Given the description of an element on the screen output the (x, y) to click on. 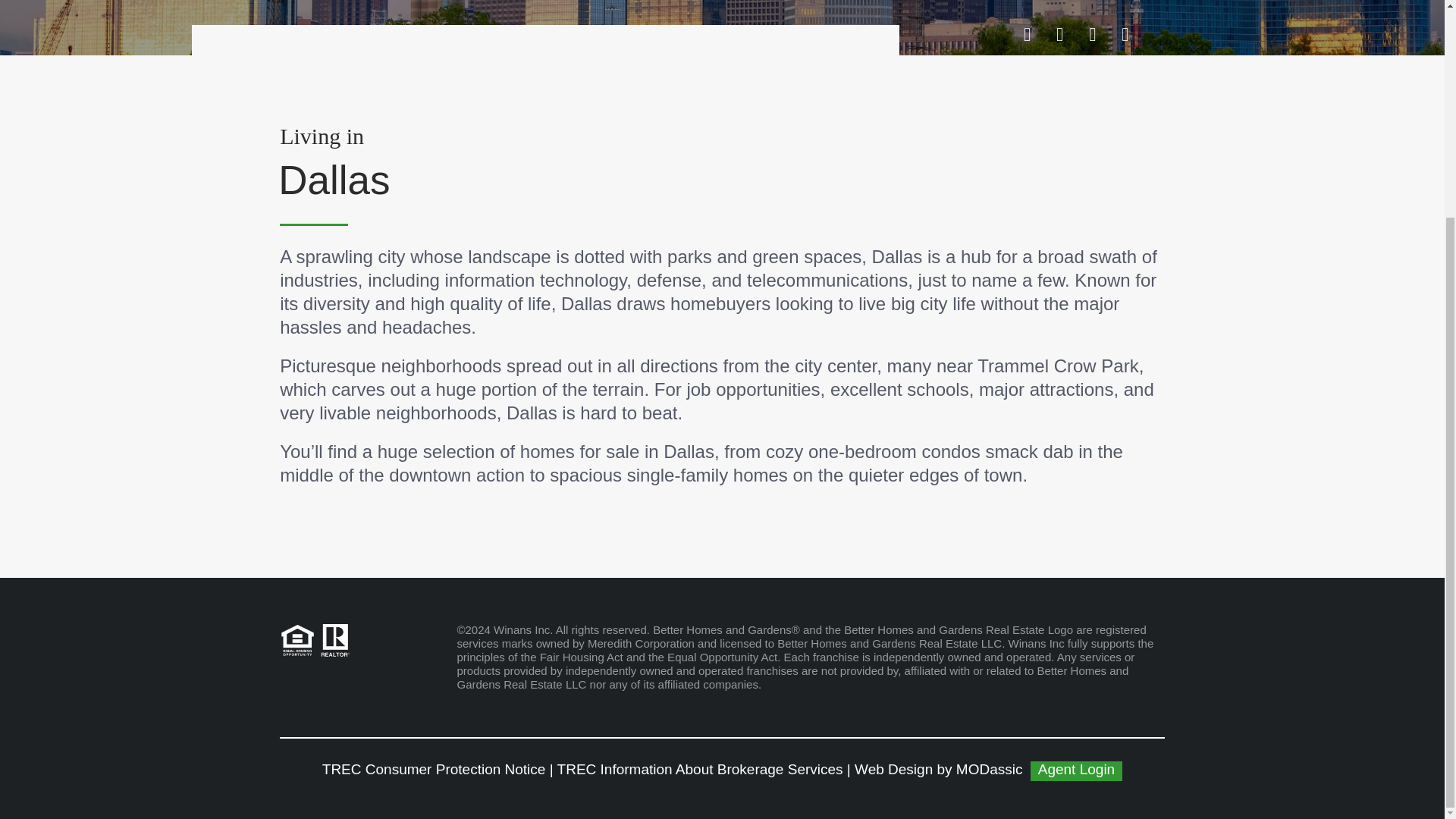
TREC Information About Brokerage Services (700, 769)
Agent Login (1076, 771)
Submit (722, 252)
TREC Consumer Protection Notice (433, 769)
